Given the description of an element on the screen output the (x, y) to click on. 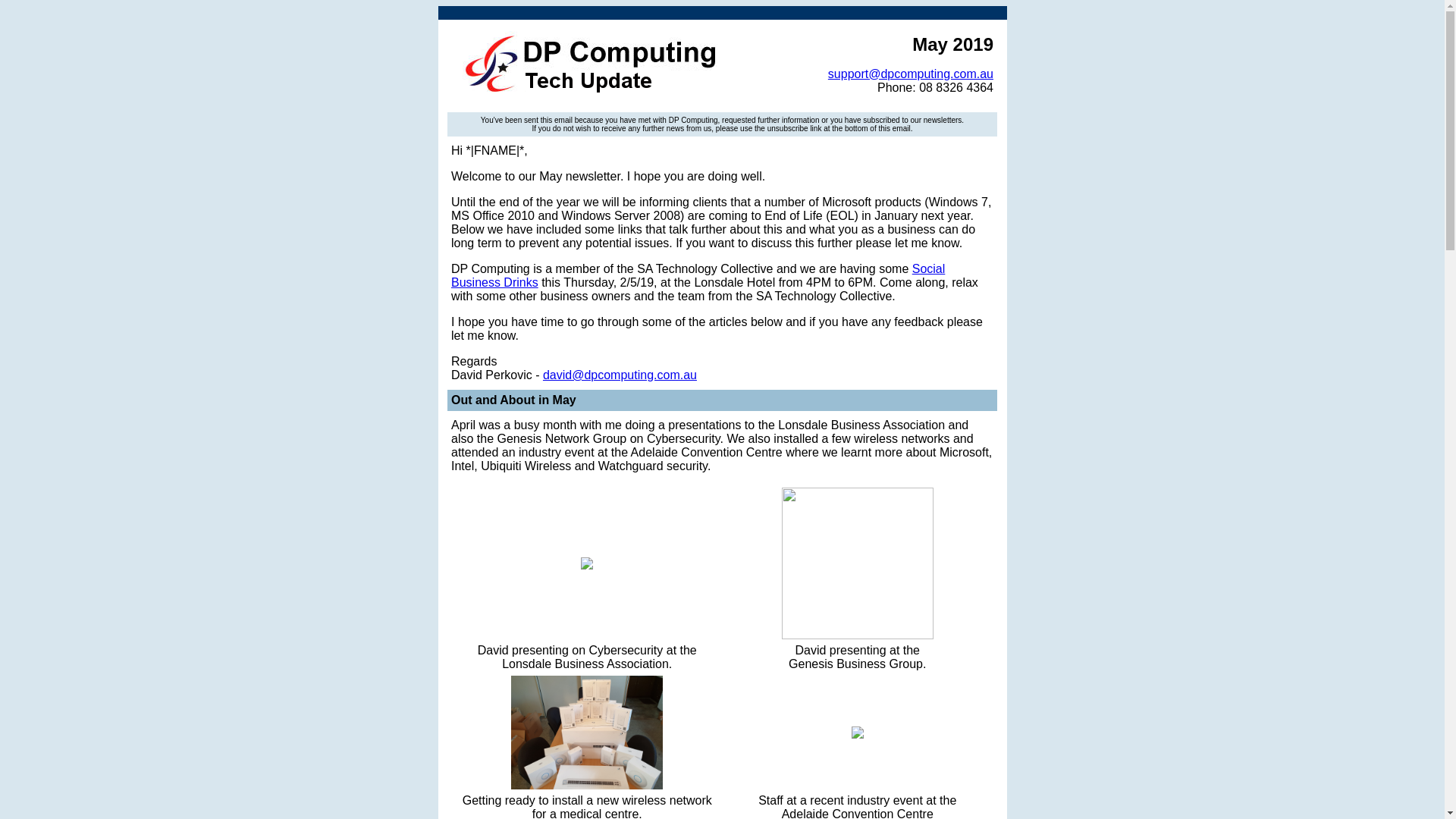
david@dpcomputing.com.au Element type: text (619, 374)
Social Business Drinks Element type: text (697, 275)
support@dpcomputing.com.au Element type: text (910, 72)
